Given the description of an element on the screen output the (x, y) to click on. 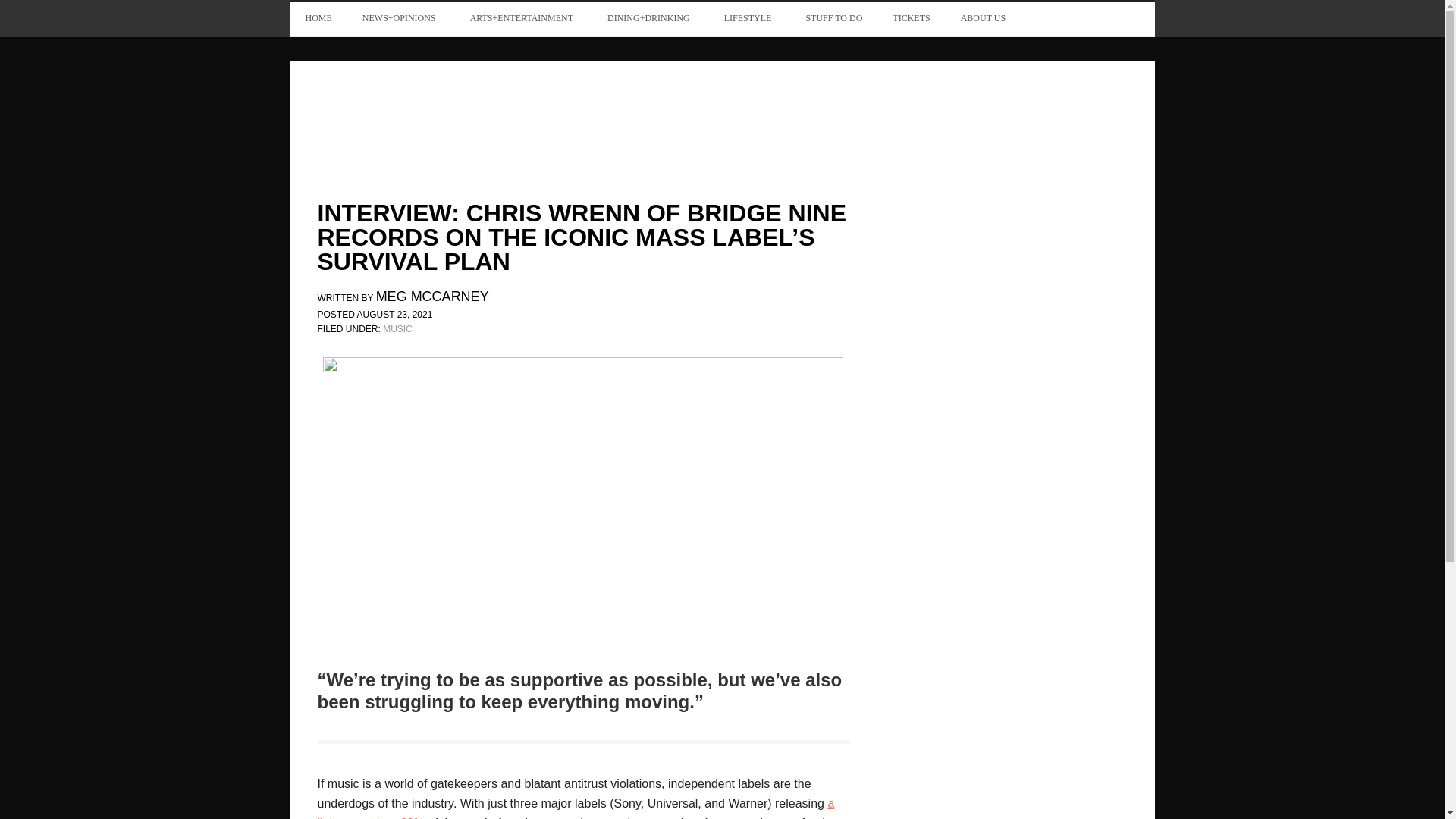
MEG MCCARNEY (432, 297)
TICKETS (910, 18)
HOME (317, 18)
DIG BOS (419, 118)
STUFF TO DO (833, 18)
LIFESTYLE (749, 18)
MUSIC (397, 328)
